Given the description of an element on the screen output the (x, y) to click on. 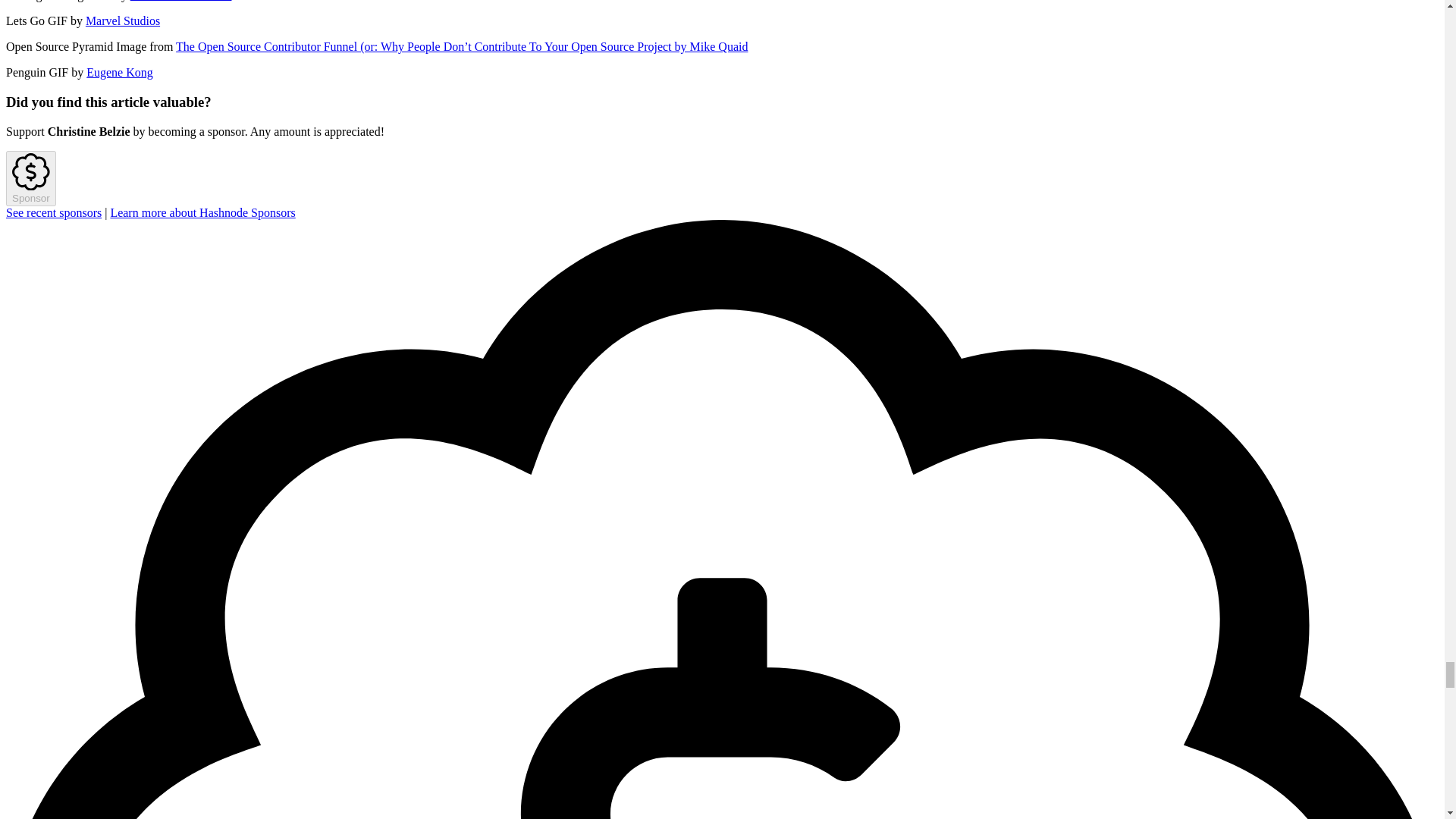
Learn more about Hashnode Sponsors (202, 212)
See recent sponsors (53, 212)
Sponsor (30, 178)
WIESEMANN 1893 (181, 0)
Eugene Kong (118, 72)
Marvel Studios (122, 20)
